Given the description of an element on the screen output the (x, y) to click on. 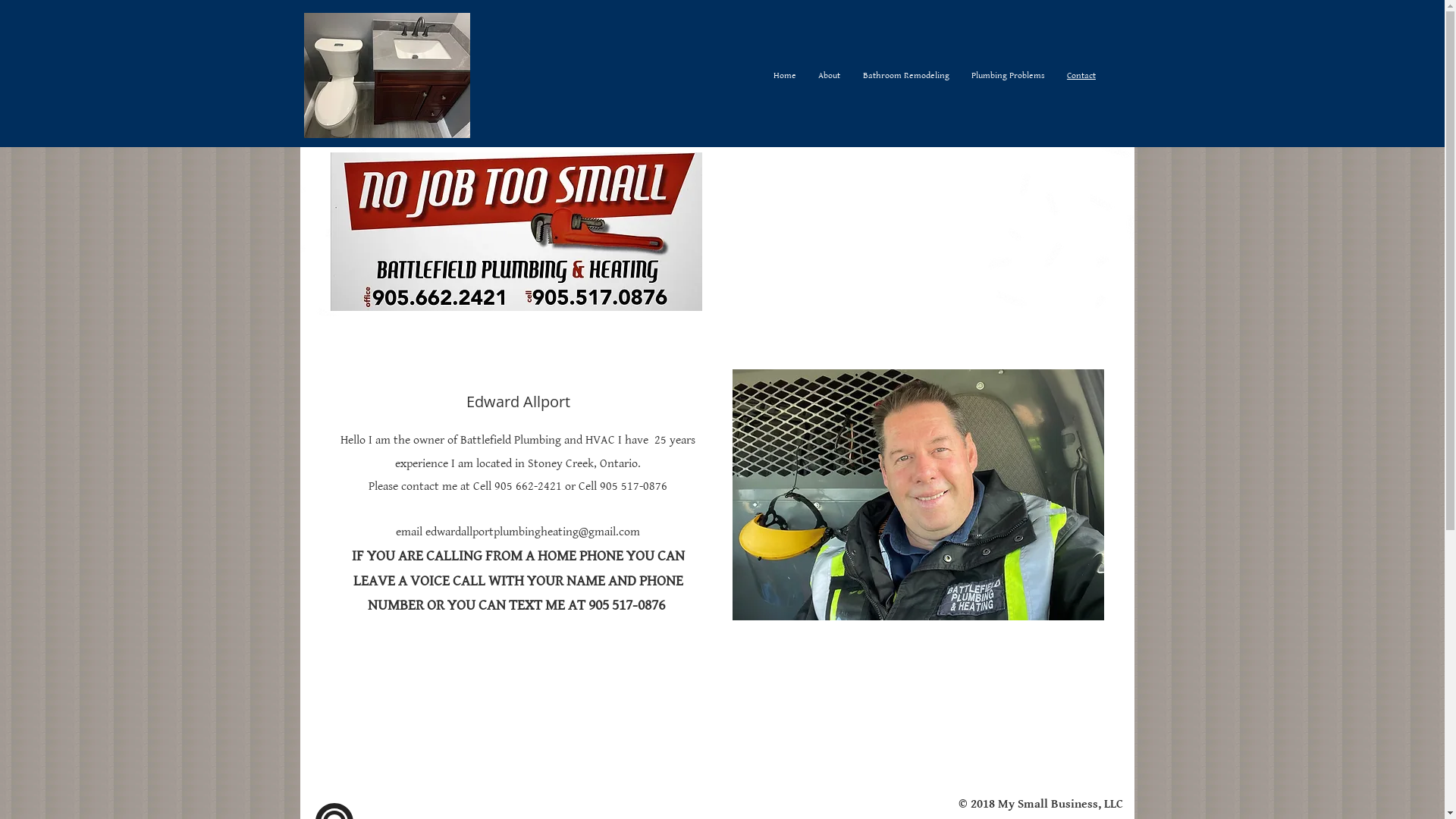
Plumbing Problems Element type: text (1007, 75)
Bathroom Remodeling Element type: text (905, 75)
Contact Element type: text (1080, 75)
About Element type: text (829, 75)
Home Element type: text (784, 75)
edwardallportplumbingheating@gmail.com Element type: text (532, 531)
